Given the description of an element on the screen output the (x, y) to click on. 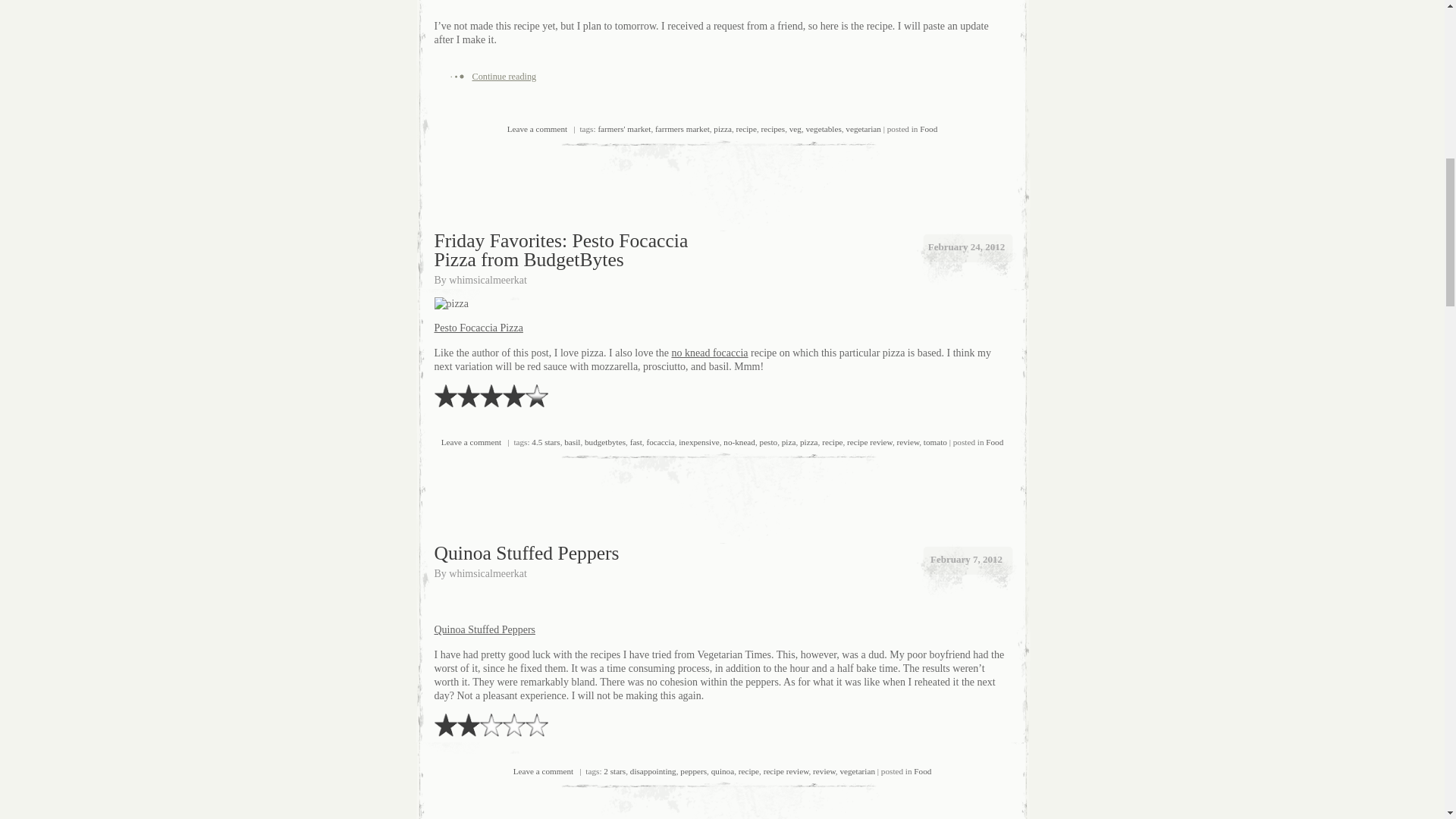
Food (928, 128)
whimsicalmeerkat (487, 279)
Permalink to Quinoa Stuffed Peppers (525, 553)
veg (795, 128)
recipe (746, 128)
focaccia (660, 441)
farrmers market (682, 128)
no knead focaccia (709, 352)
Pesto Focaccia Pizza (477, 327)
budgetbytes (605, 441)
